Given the description of an element on the screen output the (x, y) to click on. 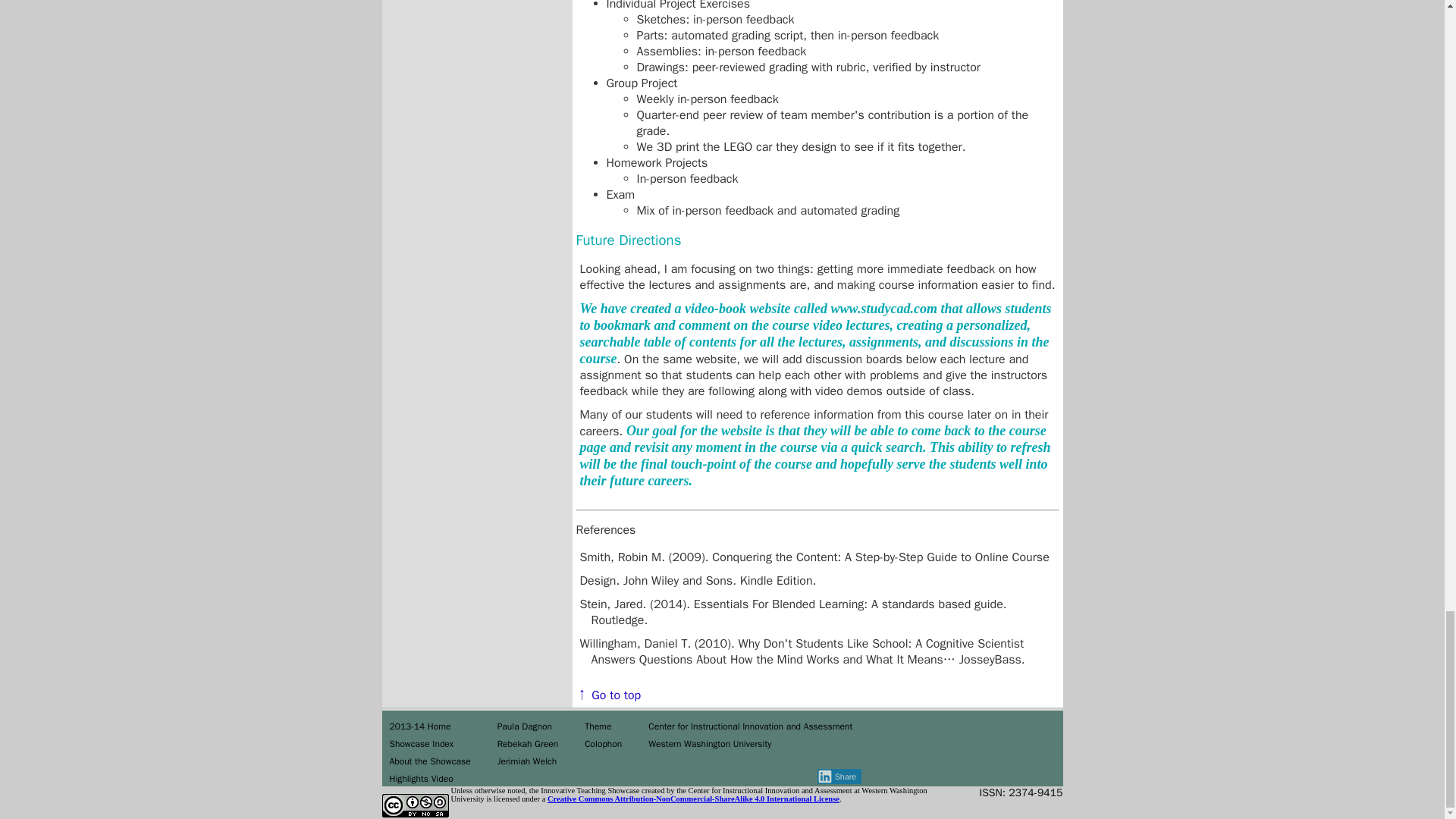
2013-14 Home (420, 726)
Showcase Index (422, 743)
About the Showcase (430, 761)
Highlights Video (421, 778)
